Given the description of an element on the screen output the (x, y) to click on. 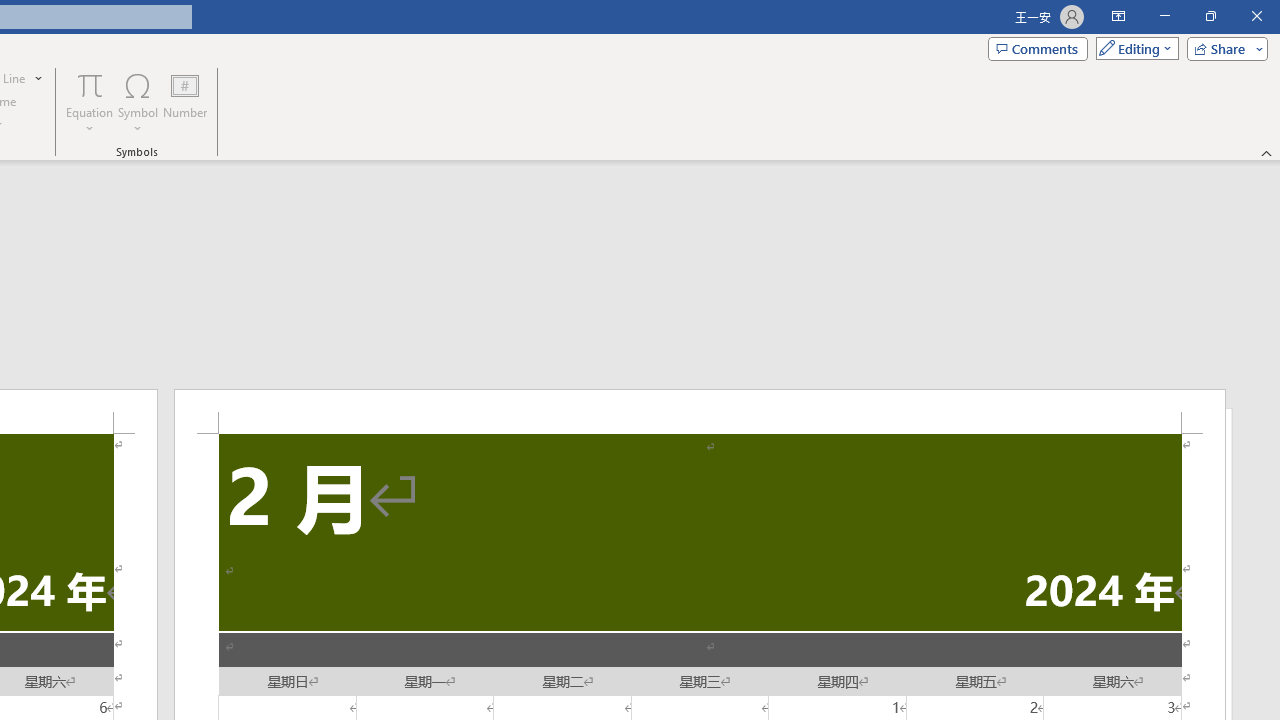
Equation (90, 102)
